Given the description of an element on the screen output the (x, y) to click on. 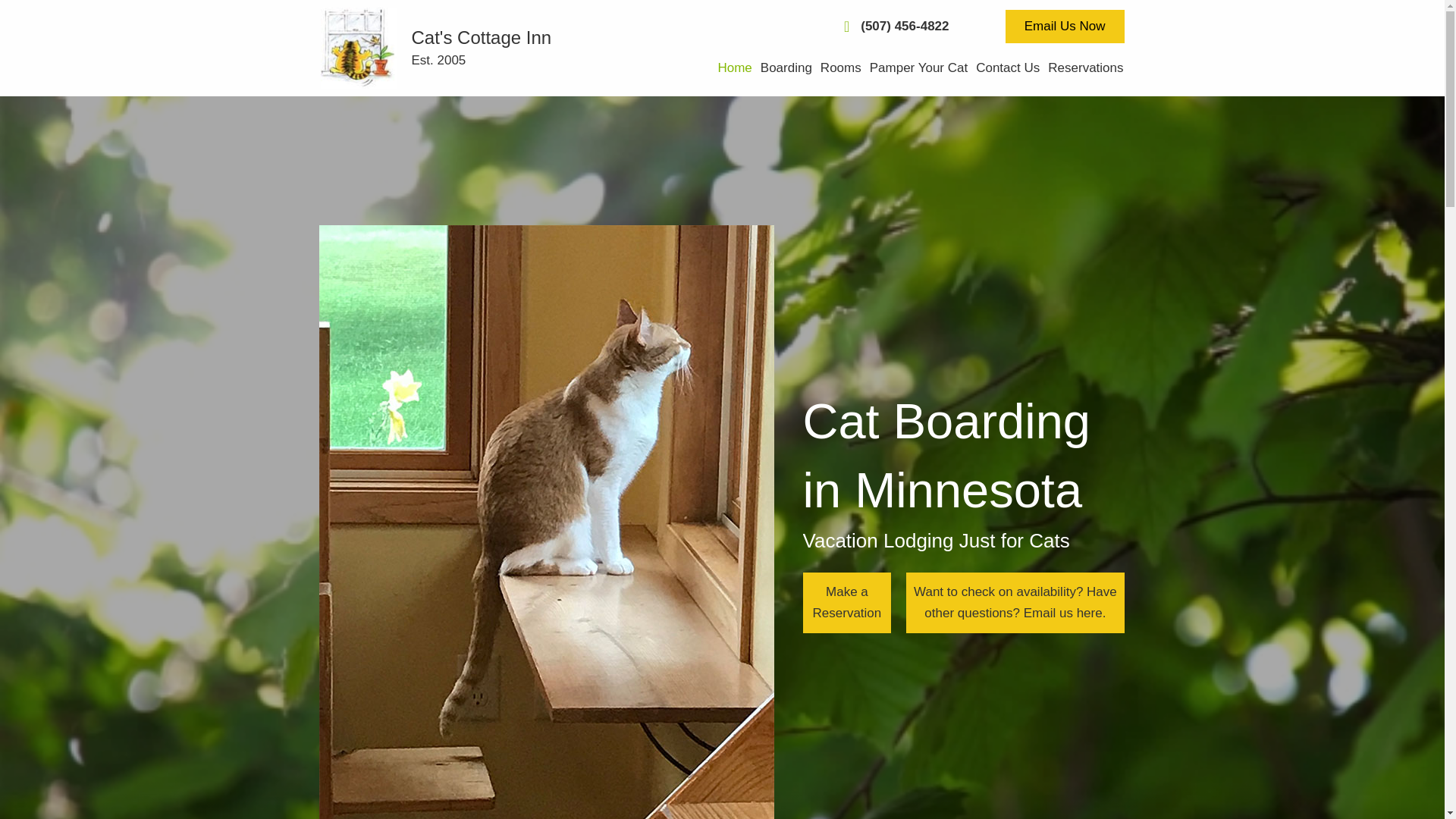
Rooms (836, 67)
Home (731, 67)
Make a Reservation (847, 602)
Cat's Cottage Inn (358, 47)
Contact Us (1004, 67)
Reservations (1082, 67)
Boarding (782, 67)
Email Us Now (1065, 26)
Pamper Your Cat (914, 67)
